Given the description of an element on the screen output the (x, y) to click on. 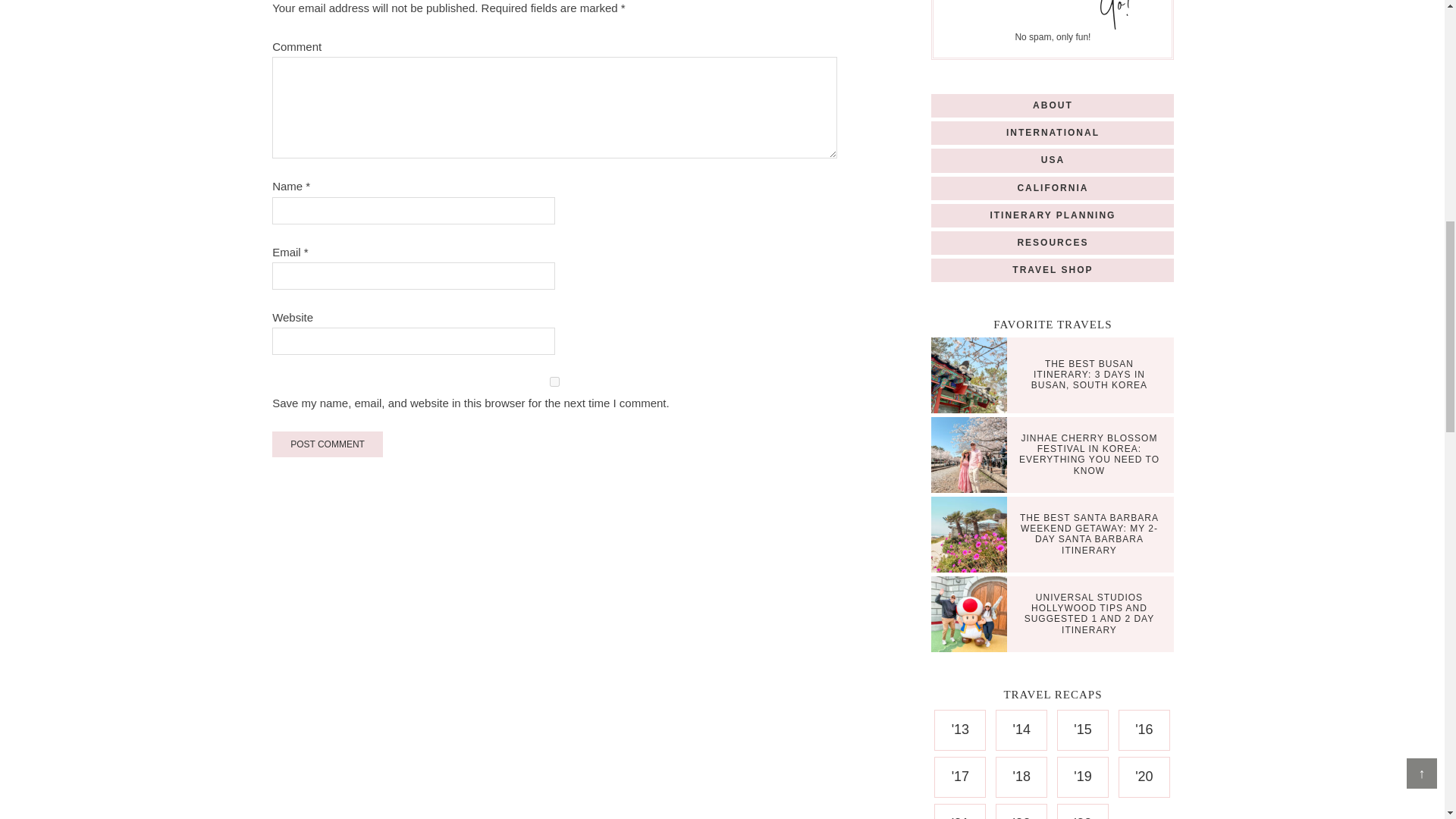
yes (554, 381)
The Best Busan Itinerary: 3 Days in Busan, South Korea (972, 376)
Post Comment (327, 444)
Subscribe (1116, 14)
The Best Busan Itinerary: 3 Days in Busan, South Korea (1088, 374)
